Given the description of an element on the screen output the (x, y) to click on. 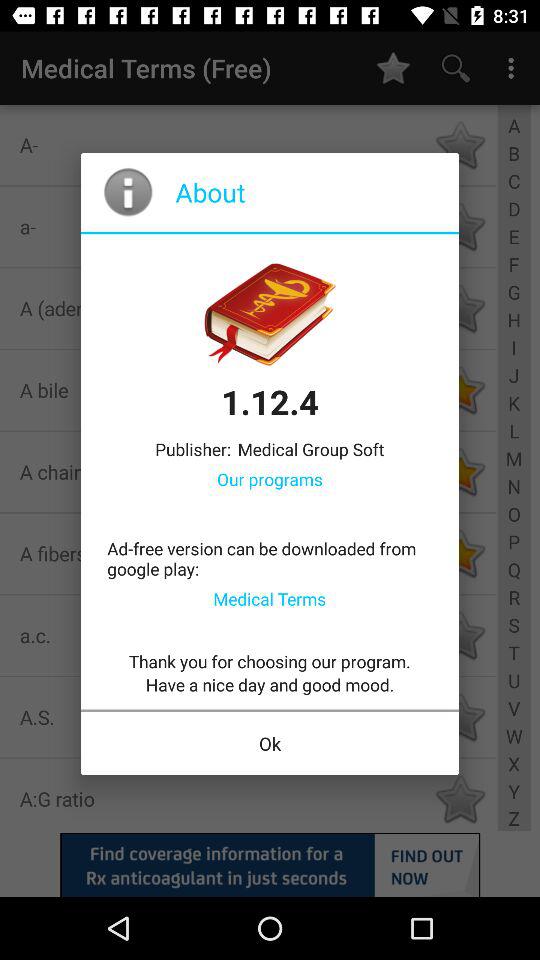
scroll to the medical terms item (269, 598)
